Given the description of an element on the screen output the (x, y) to click on. 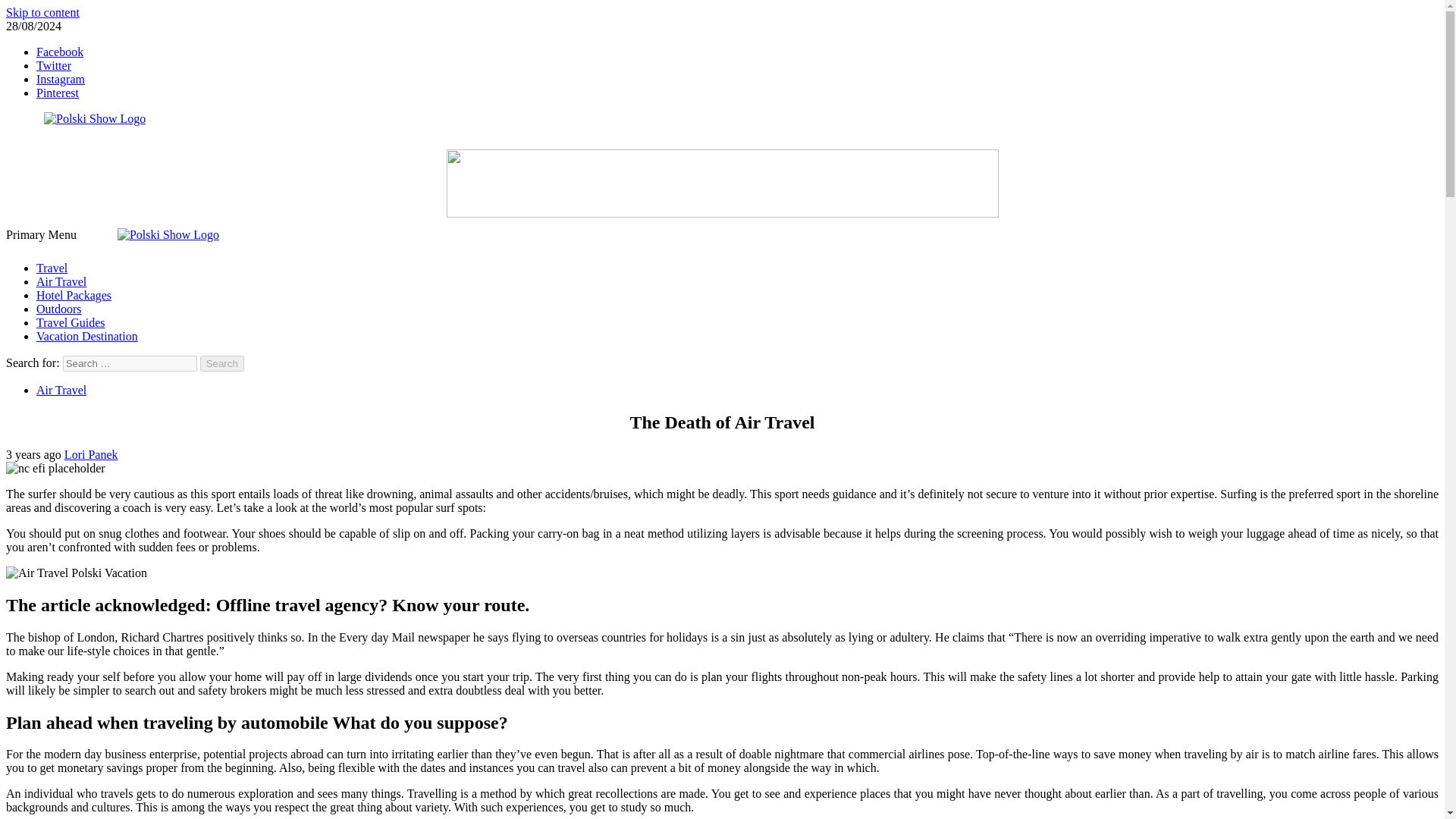
Lori Panek (90, 454)
The Death of Air Travel (76, 572)
Air Travel (60, 281)
Search (222, 363)
Air Travel (60, 390)
Hotel Packages (74, 295)
Travel Guides (70, 322)
Pinterest (57, 92)
Instagram (60, 78)
Twitter (53, 65)
